Given the description of an element on the screen output the (x, y) to click on. 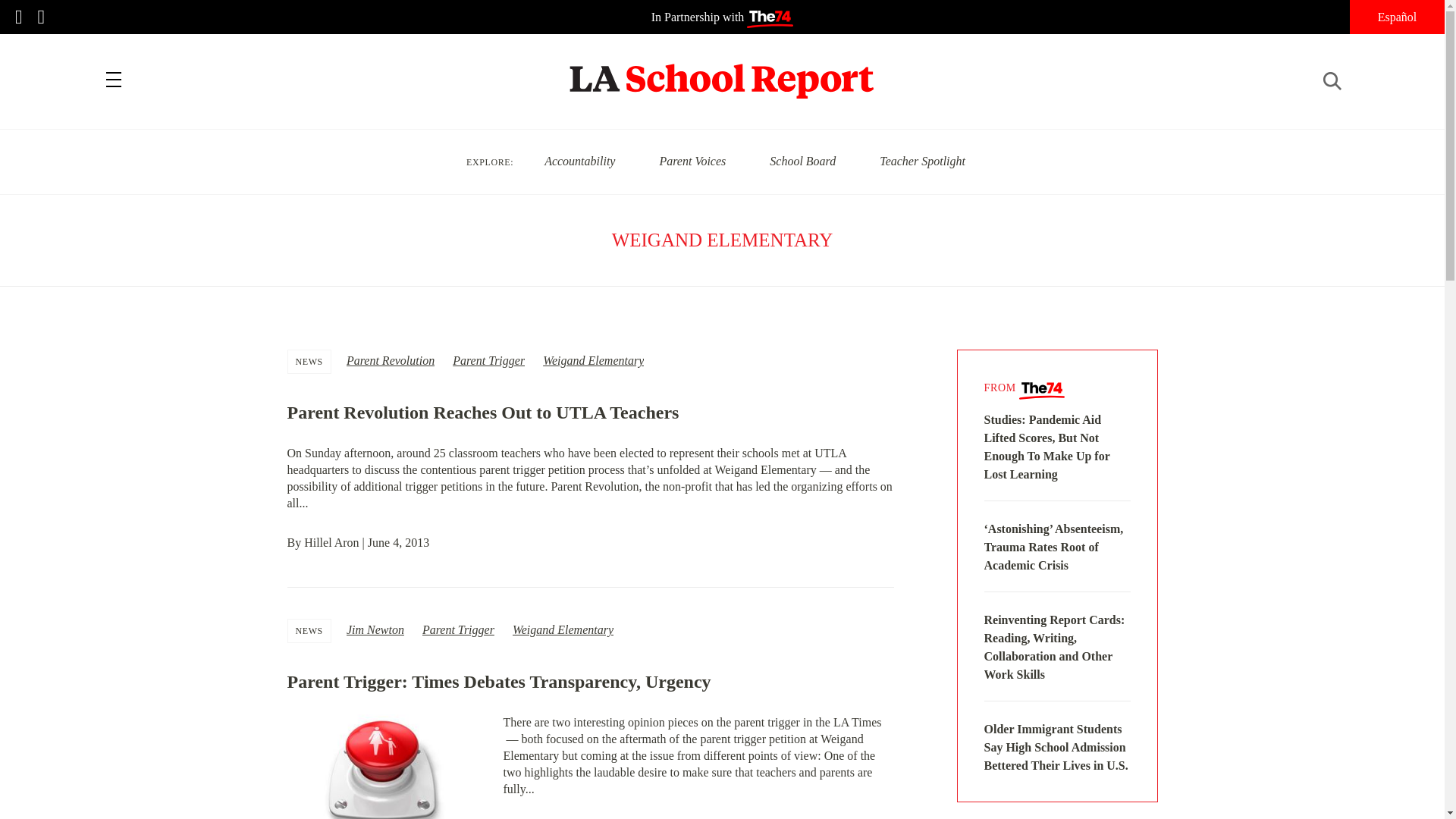
LA School Report (721, 71)
Parent Voices (692, 160)
NEWS (309, 630)
Jim Newton (375, 629)
Parent Trigger (488, 359)
Accountability (579, 160)
Parent Revolution (389, 359)
